Given the description of an element on the screen output the (x, y) to click on. 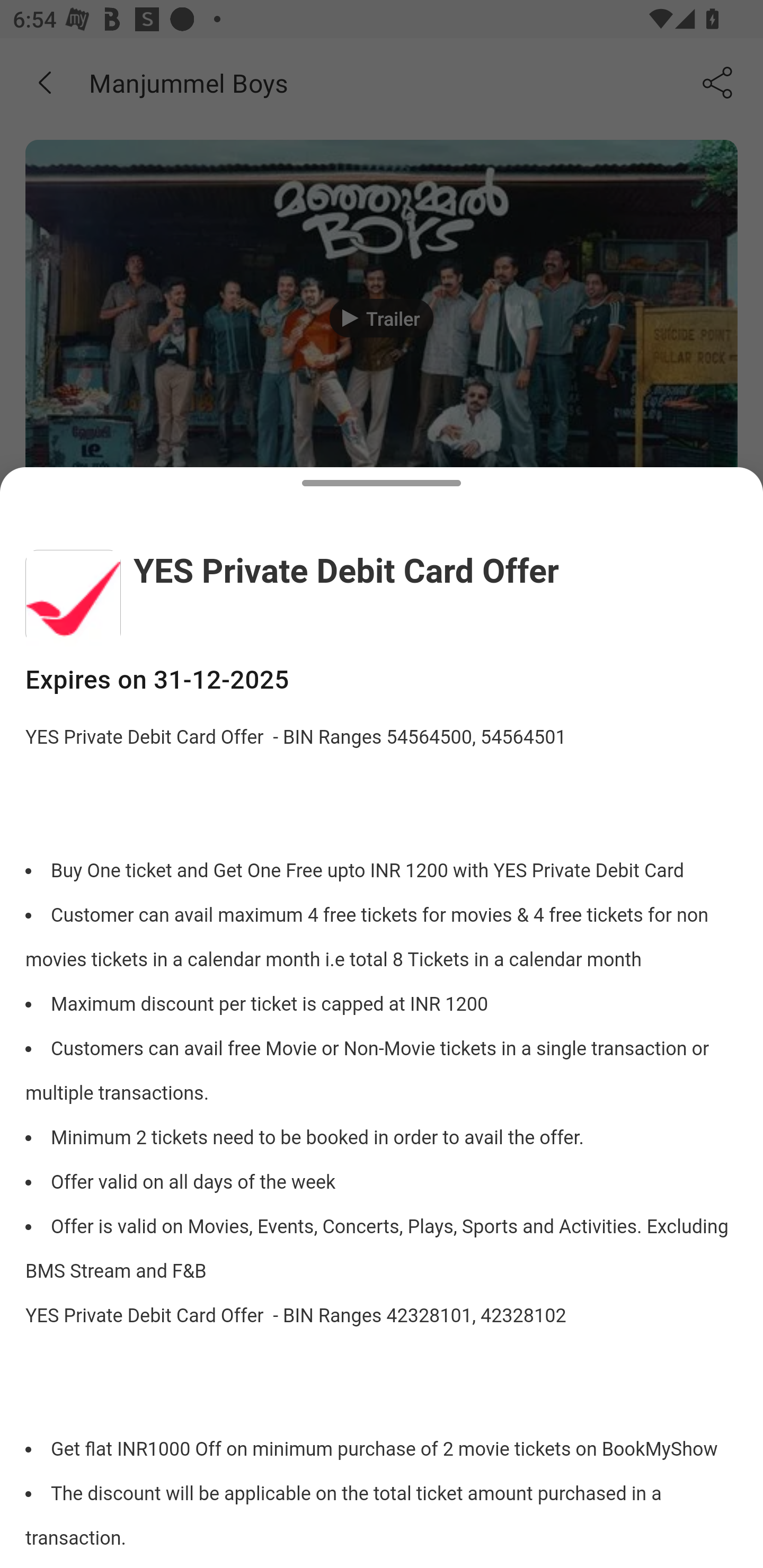
Expires on 31-12-2025 (381, 680)
